Given the description of an element on the screen output the (x, y) to click on. 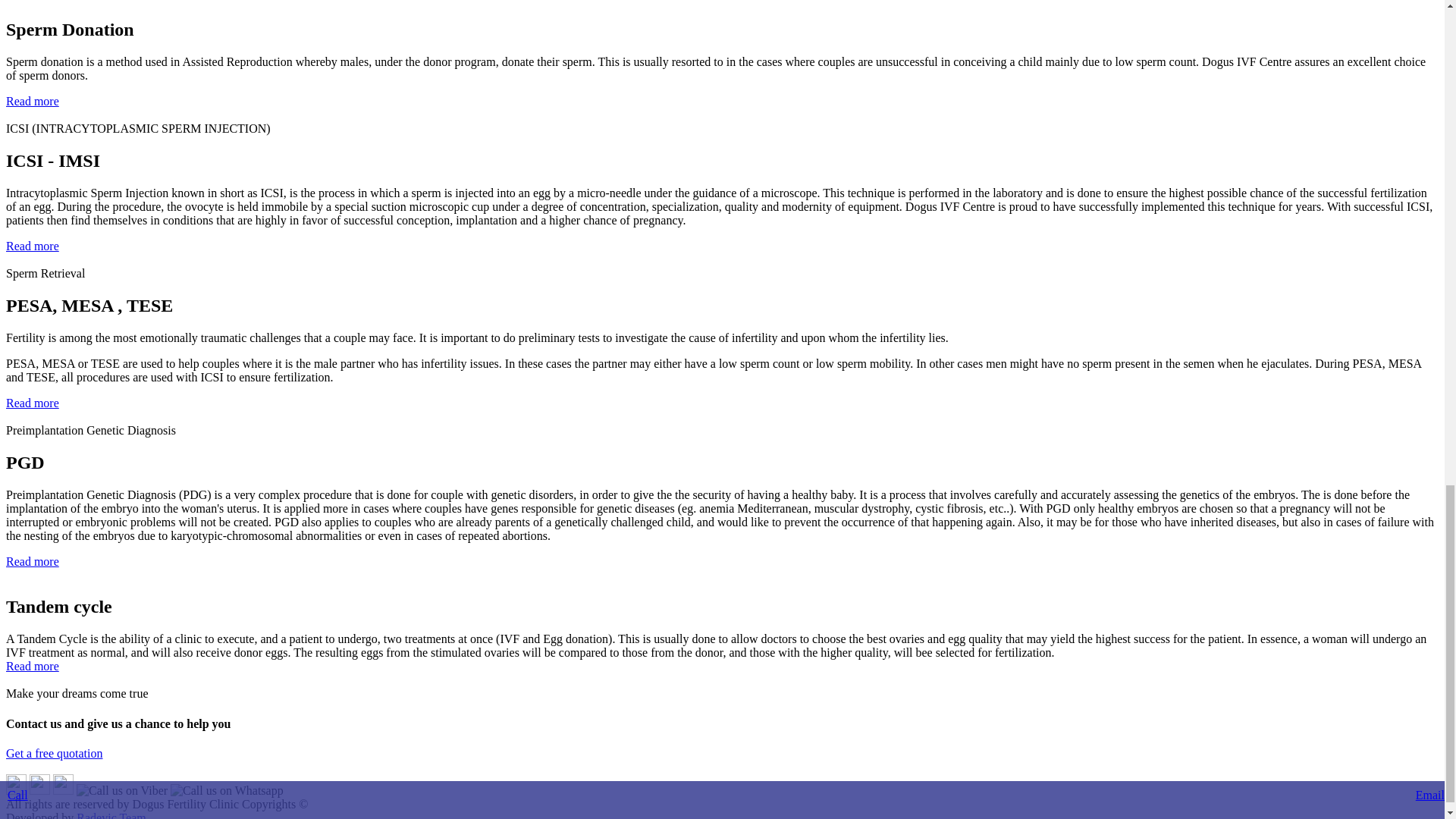
Visit our Spanish website (15, 789)
Visit our Italian website (39, 789)
Visit our French website (63, 789)
